Given the description of an element on the screen output the (x, y) to click on. 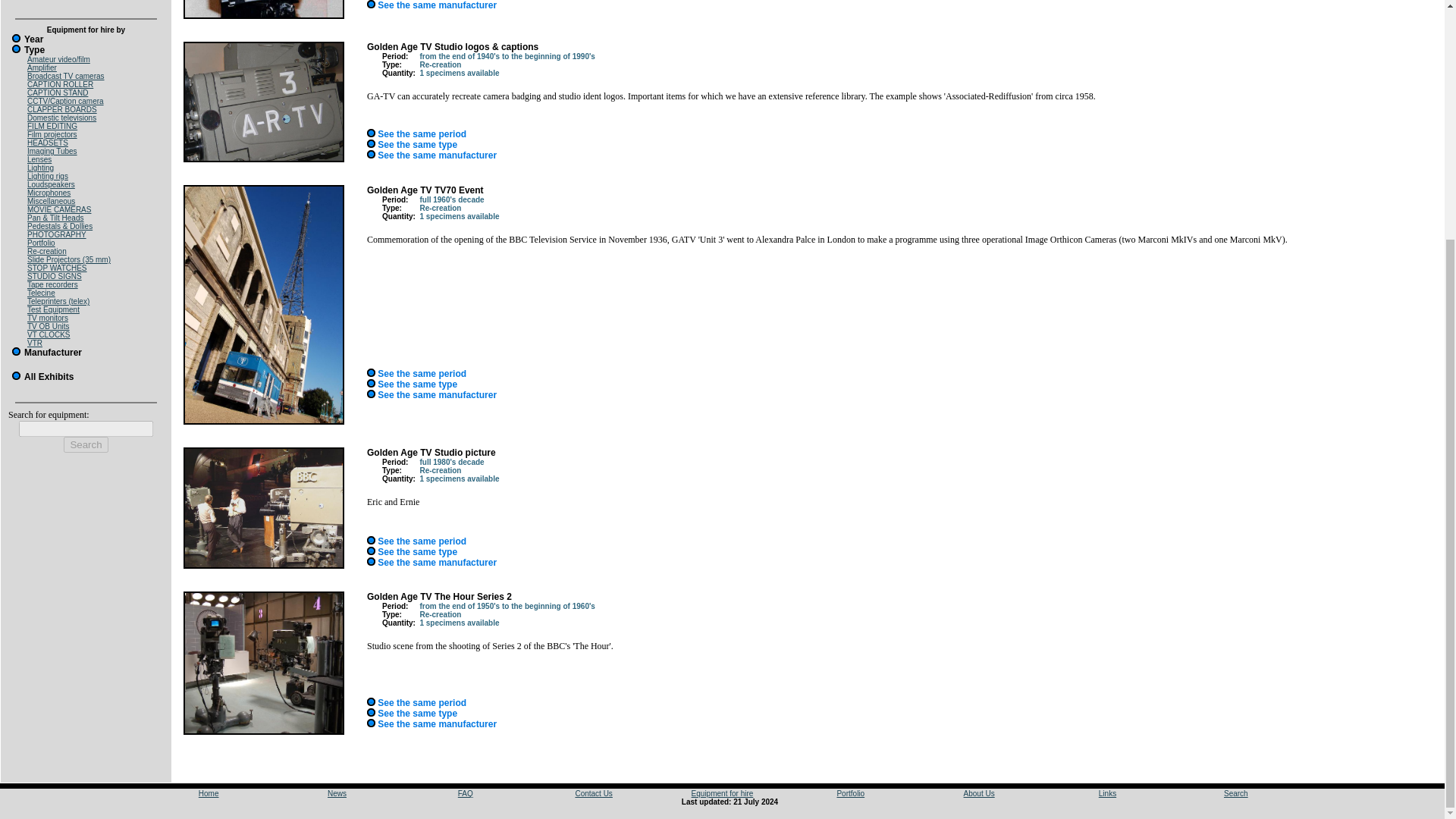
STOP WATCHES (57, 267)
MOVIE CAMERAS (58, 209)
Search (85, 444)
Broadcast TV cameras (65, 76)
Year (25, 39)
Lighting (40, 167)
HEADSETS (47, 142)
Domestic televisions (61, 117)
Lenses (38, 159)
Type (26, 50)
PHOTOGRAPHY (56, 234)
Re-creation (46, 251)
Microphones (48, 193)
Lighting rigs (47, 175)
Amplifier (41, 67)
